Given the description of an element on the screen output the (x, y) to click on. 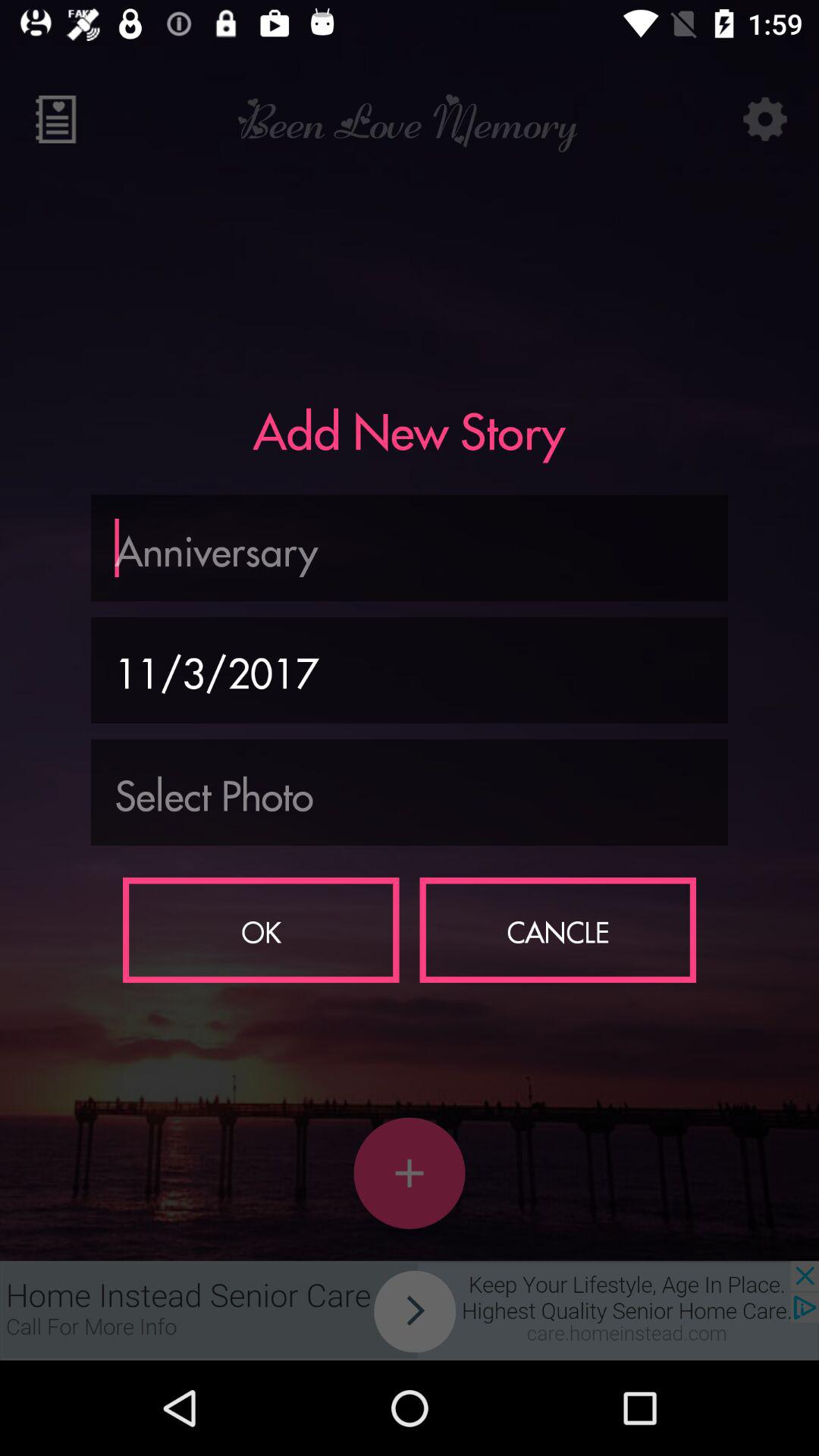
click icon above 11/3/2017 (409, 547)
